Given the description of an element on the screen output the (x, y) to click on. 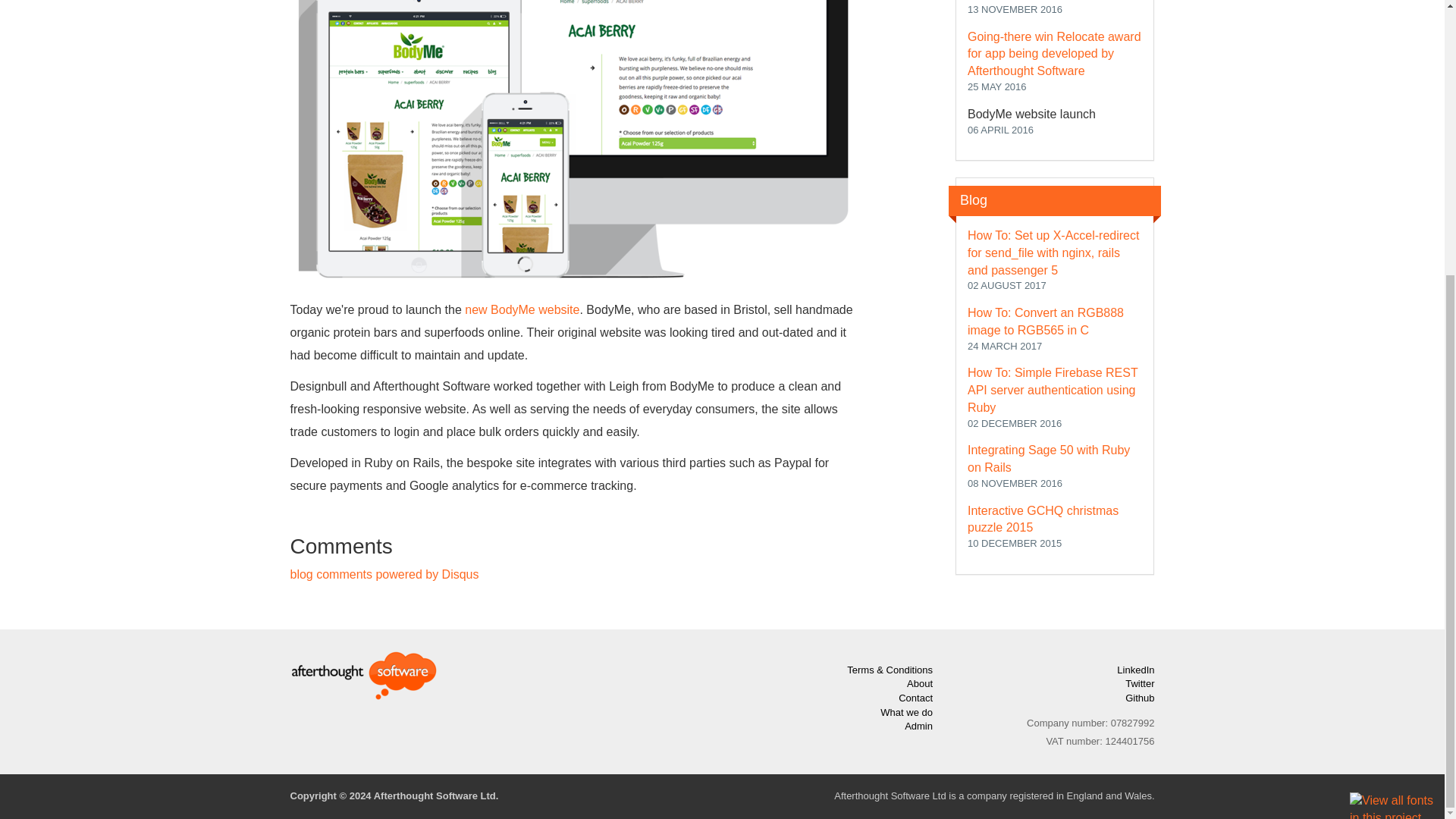
Twitter (1139, 683)
blog comments powered by Disqus (384, 574)
How To: Convert an RGB888 image to RGB565 in C (1046, 321)
LinkedIn (1135, 669)
Interactive GCHQ christmas puzzle 2015 (1043, 519)
What we do (906, 712)
Github (1139, 697)
Contact (915, 697)
About (920, 683)
